Given the description of an element on the screen output the (x, y) to click on. 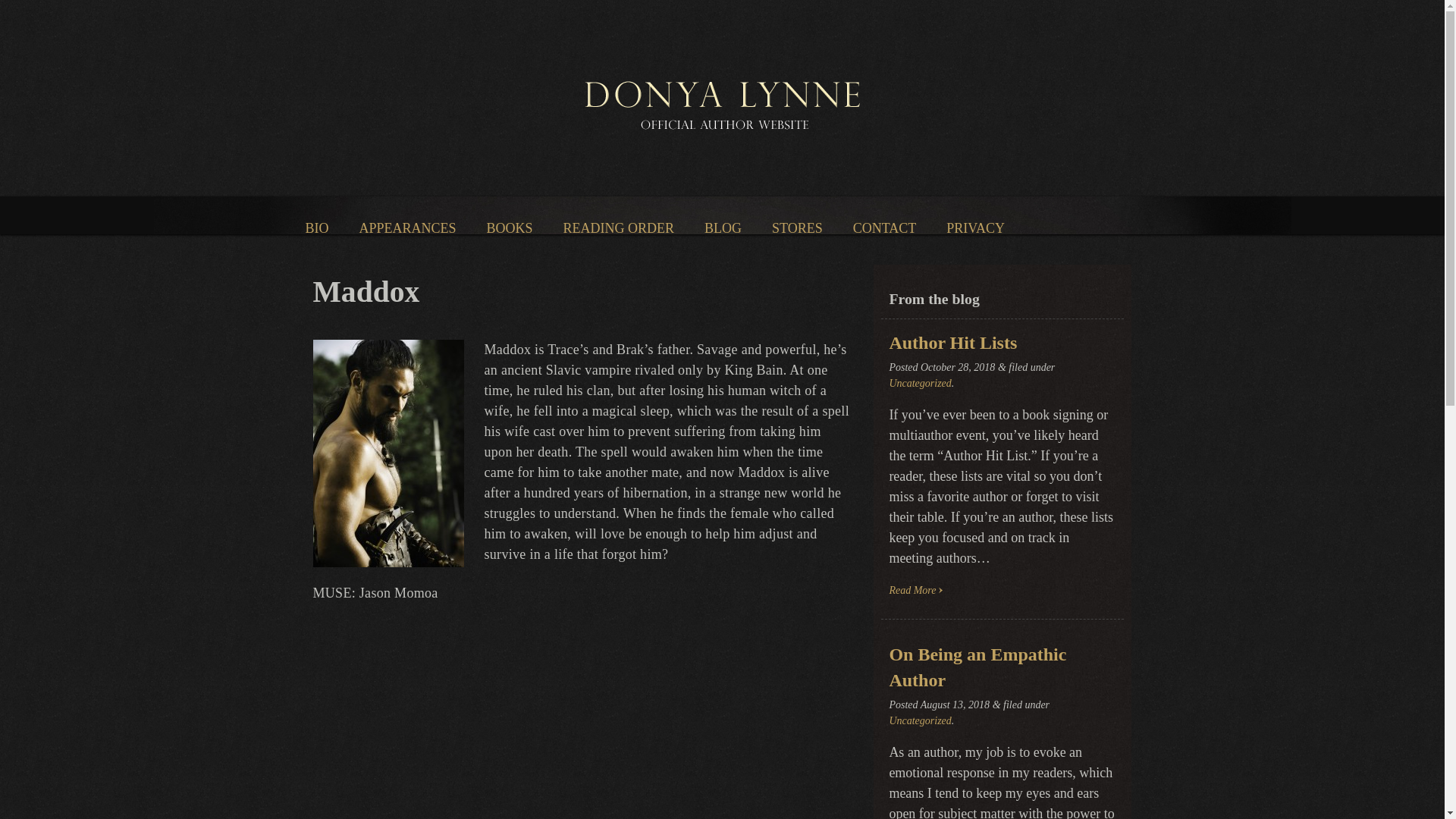
APPEARANCES (408, 228)
BOOKS (509, 228)
BIO (316, 228)
